Given the description of an element on the screen output the (x, y) to click on. 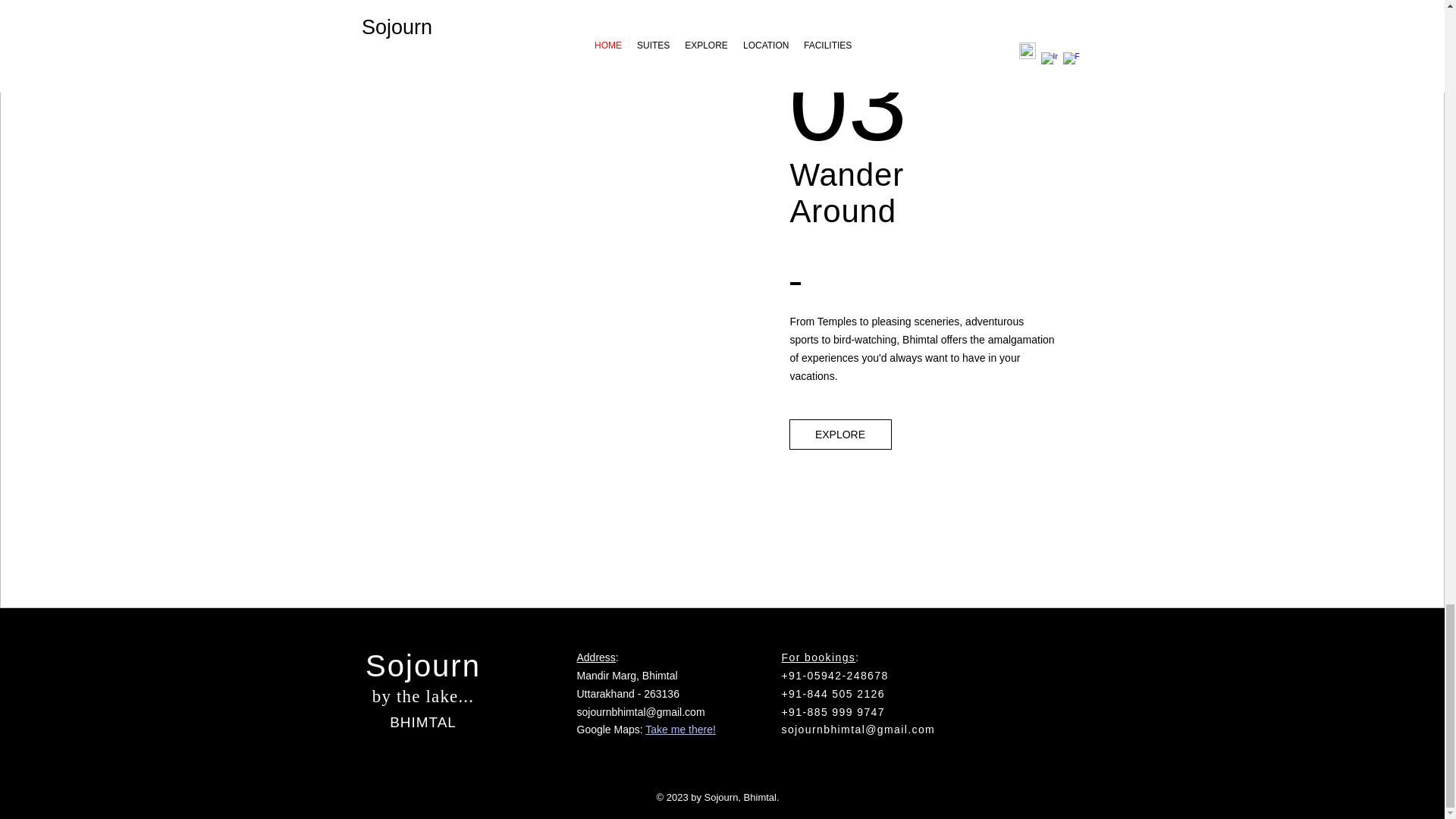
by the lake... (423, 696)
Take me there! (680, 729)
Sojourn (422, 665)
EXPLORE (840, 434)
BHIMTAL (423, 722)
